Given the description of an element on the screen output the (x, y) to click on. 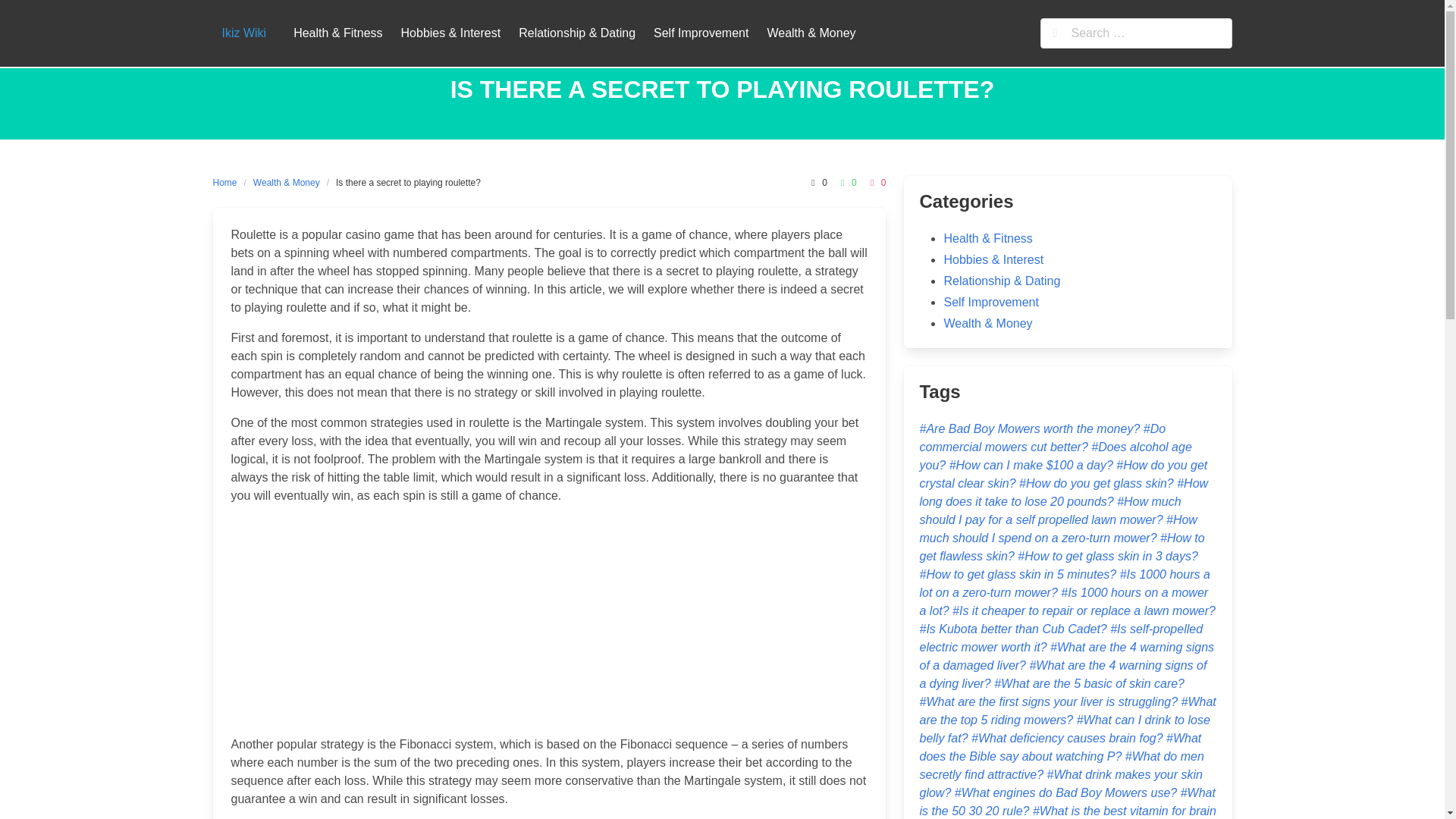
Self Improvement (701, 33)
0 (846, 182)
Home (227, 182)
Ikiz Wiki (243, 33)
Self Improvement (990, 301)
0 (876, 182)
Self Improvement (701, 33)
Ikiz Wiki (243, 33)
0 (816, 182)
Is there a secret to playing roulette? (408, 182)
